Given the description of an element on the screen output the (x, y) to click on. 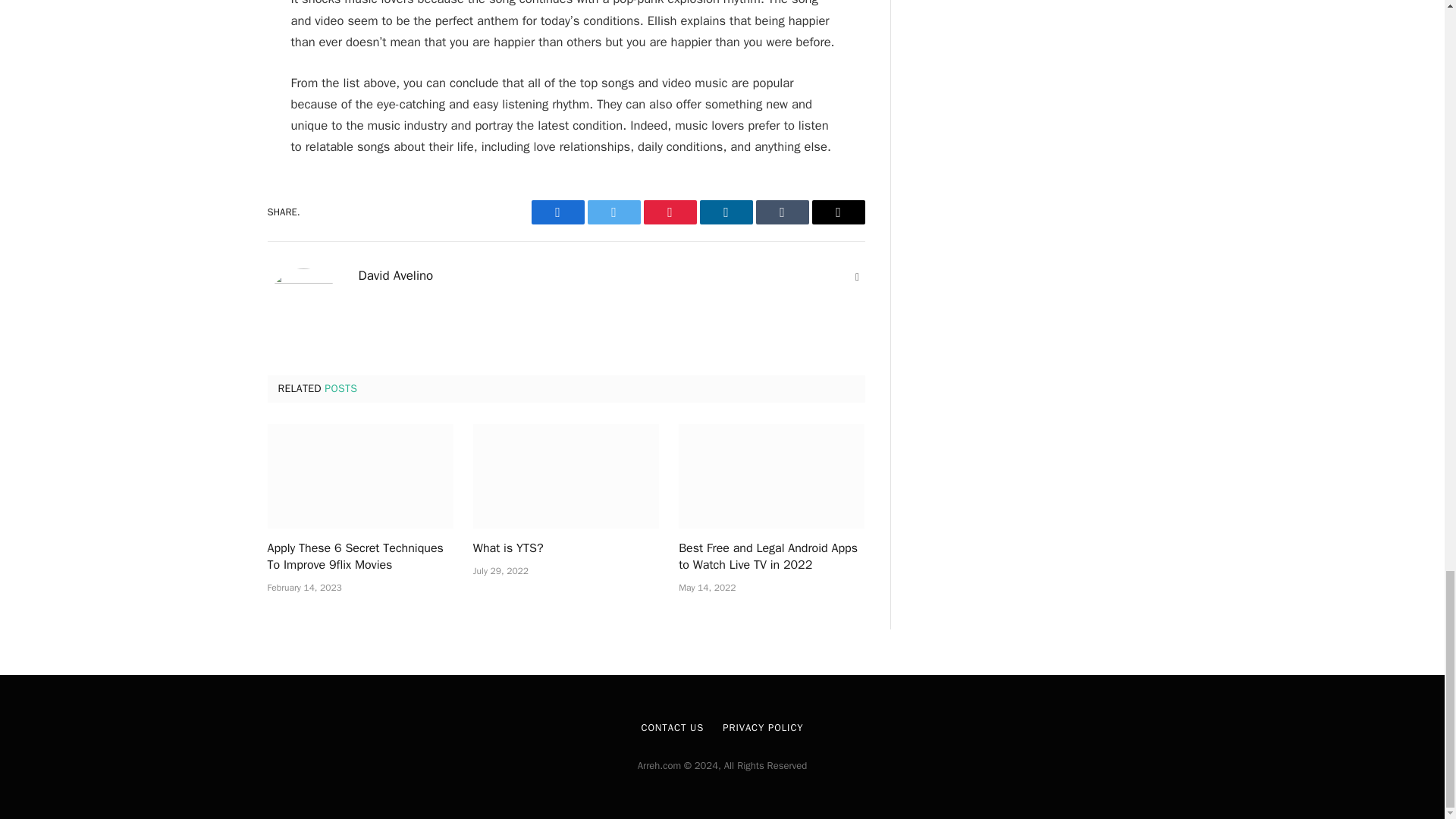
Pinterest (669, 211)
Facebook (557, 211)
Twitter (613, 211)
